Given the description of an element on the screen output the (x, y) to click on. 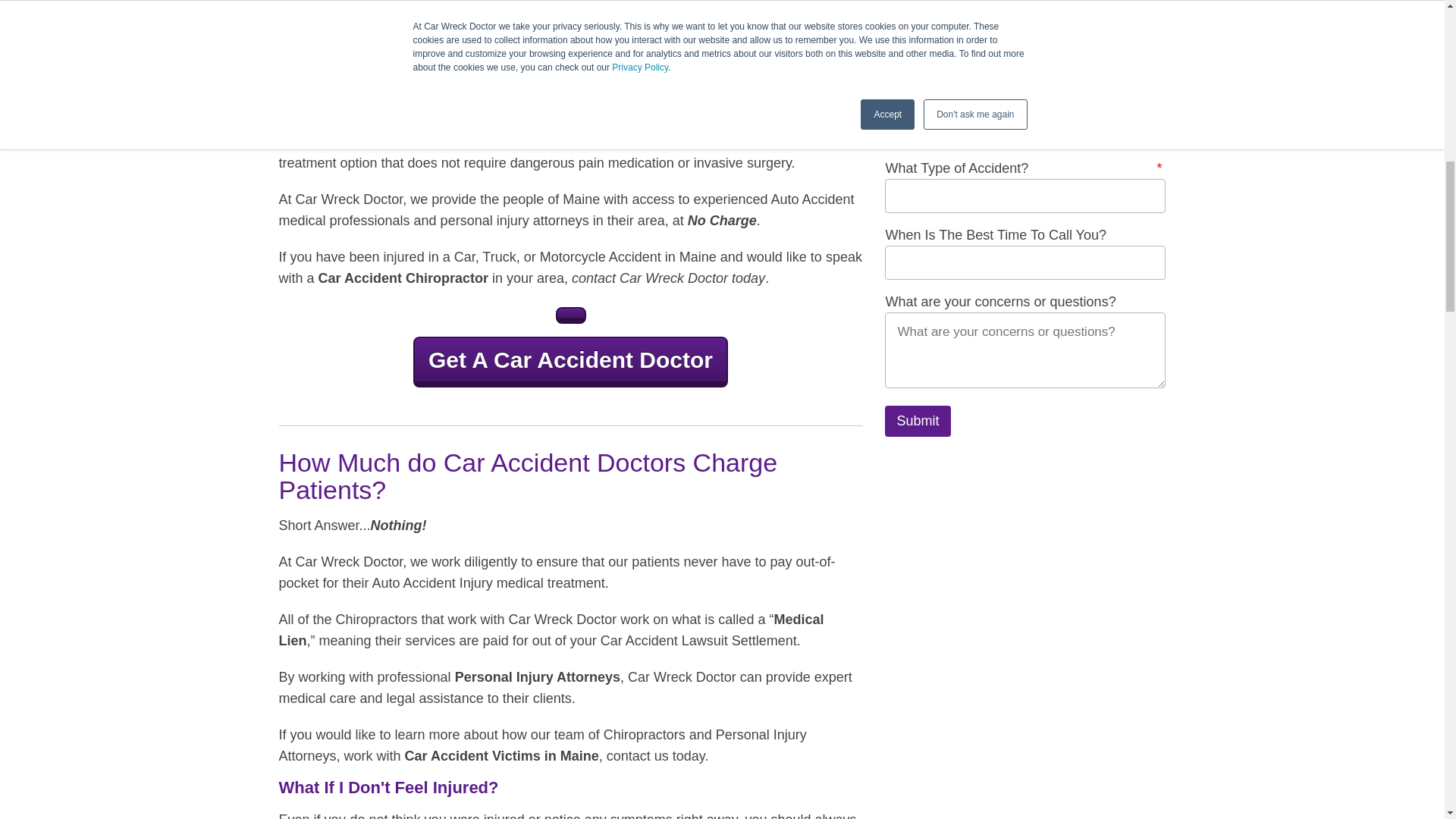
Get A Car Accident Doctor (569, 315)
Submit (917, 420)
Get A Car Accident Doctor (570, 361)
